Given the description of an element on the screen output the (x, y) to click on. 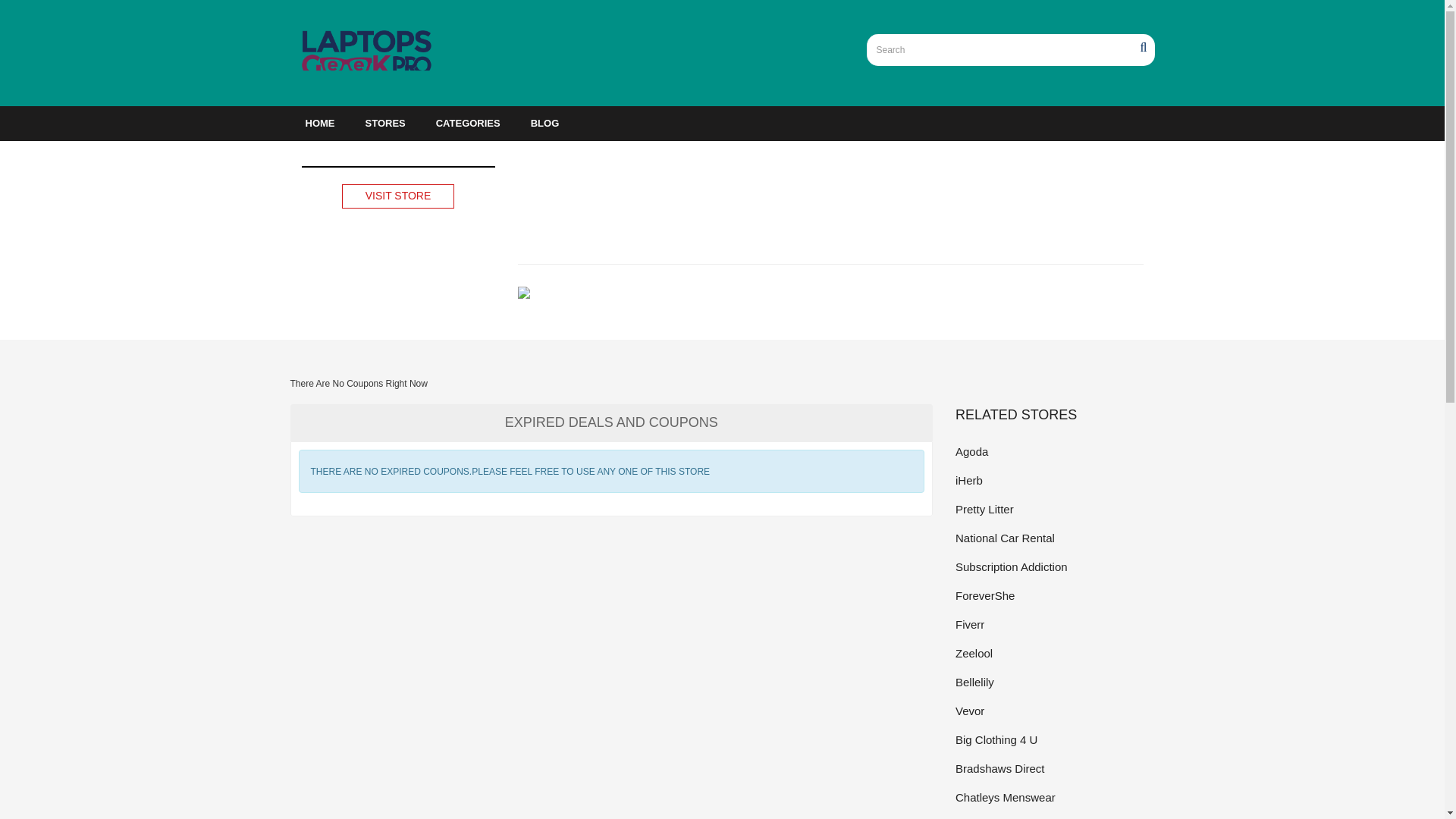
Agoda (1054, 451)
Bellelily (1054, 681)
BLOG (545, 123)
CATEGORIES (467, 123)
STORES (385, 123)
Pretty Litter (1054, 508)
ForeverShe (1054, 595)
Fiverr (1054, 624)
Vevor (1054, 710)
iHerb (1054, 479)
